Given the description of an element on the screen output the (x, y) to click on. 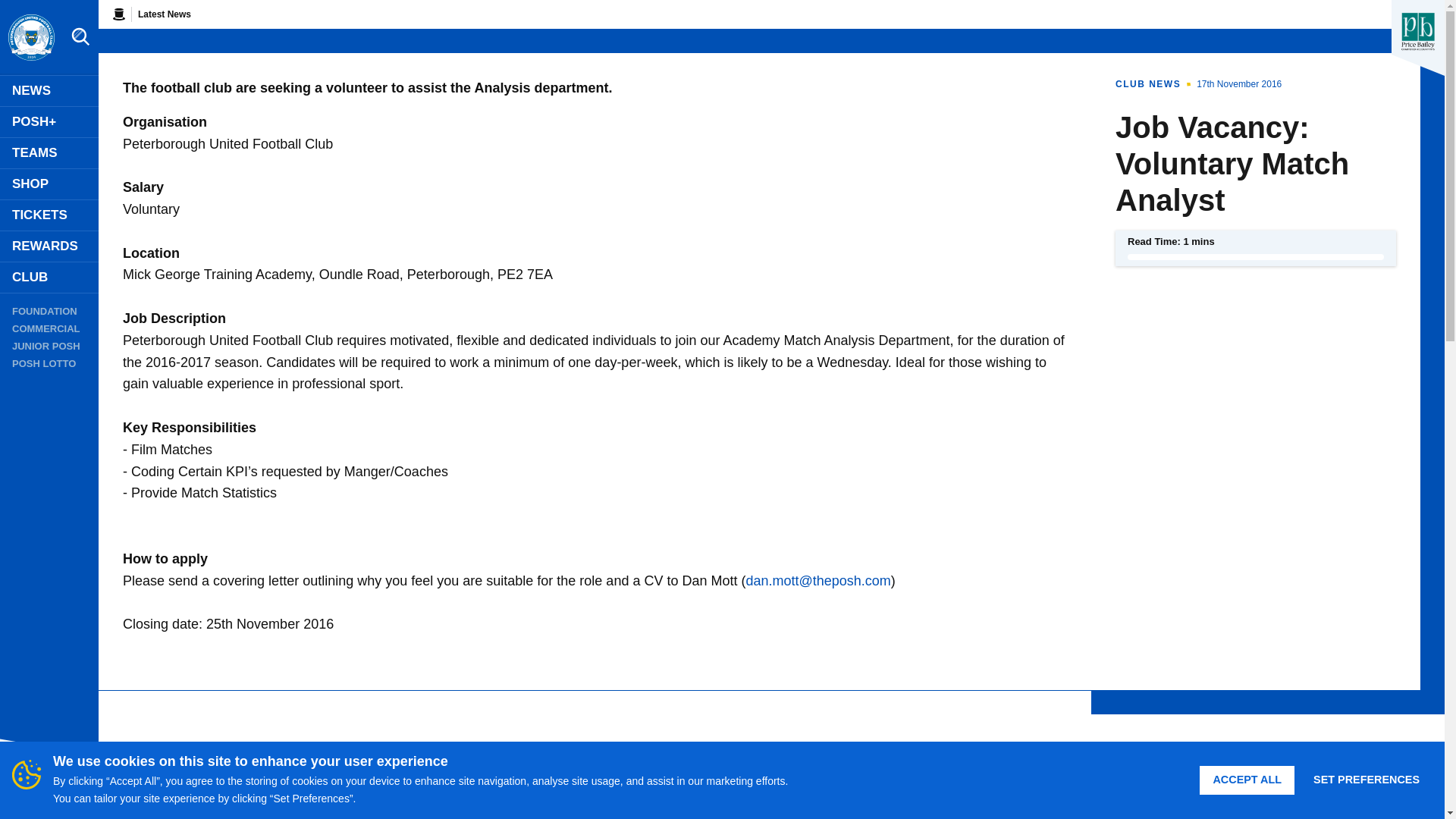
NEWS (49, 91)
TEAMS (49, 153)
News (49, 91)
Link to Peterborough United homepage (31, 37)
